Given the description of an element on the screen output the (x, y) to click on. 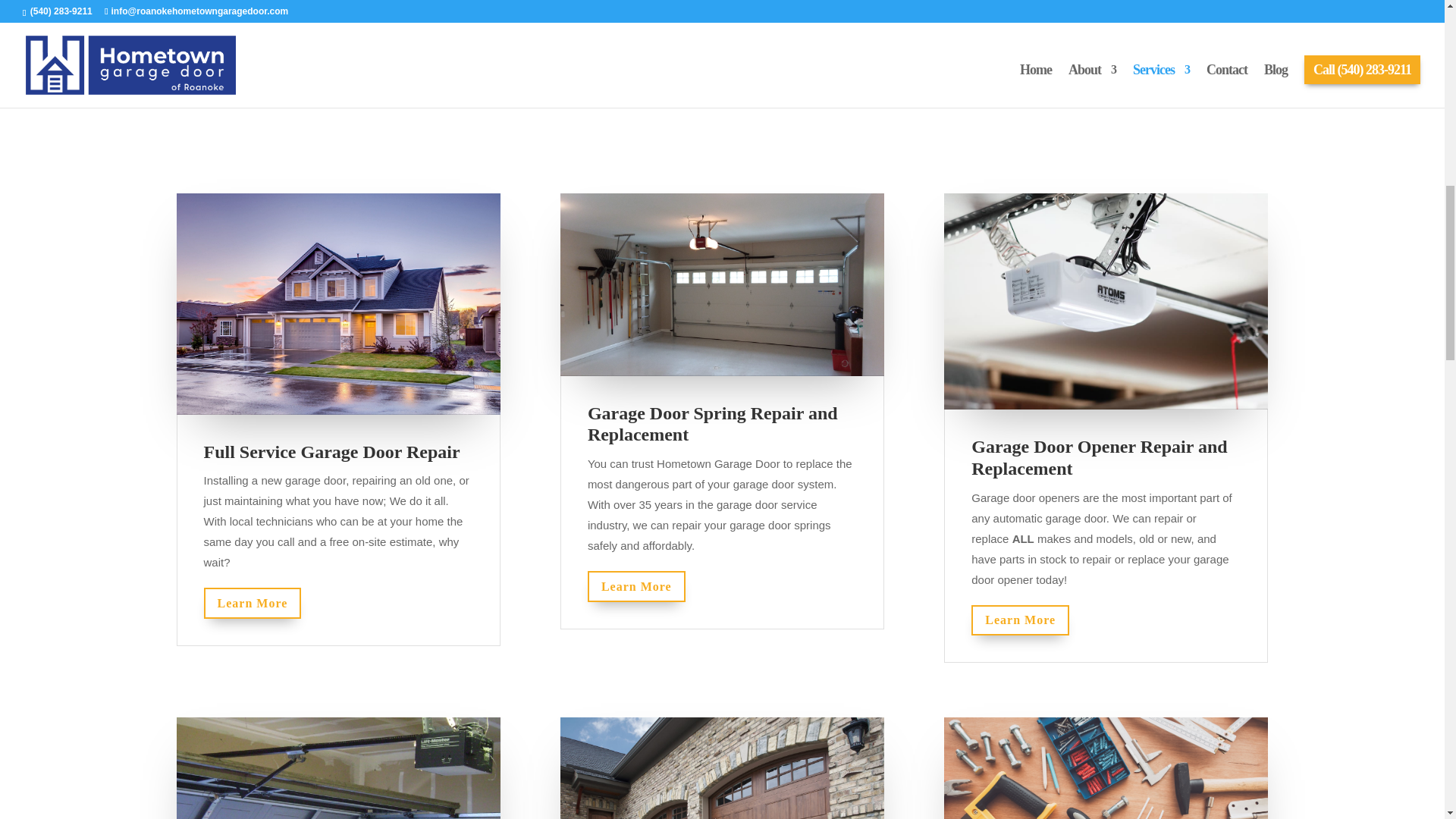
Learn More (252, 603)
Learn More (1019, 620)
Learn More (636, 585)
